Given the description of an element on the screen output the (x, y) to click on. 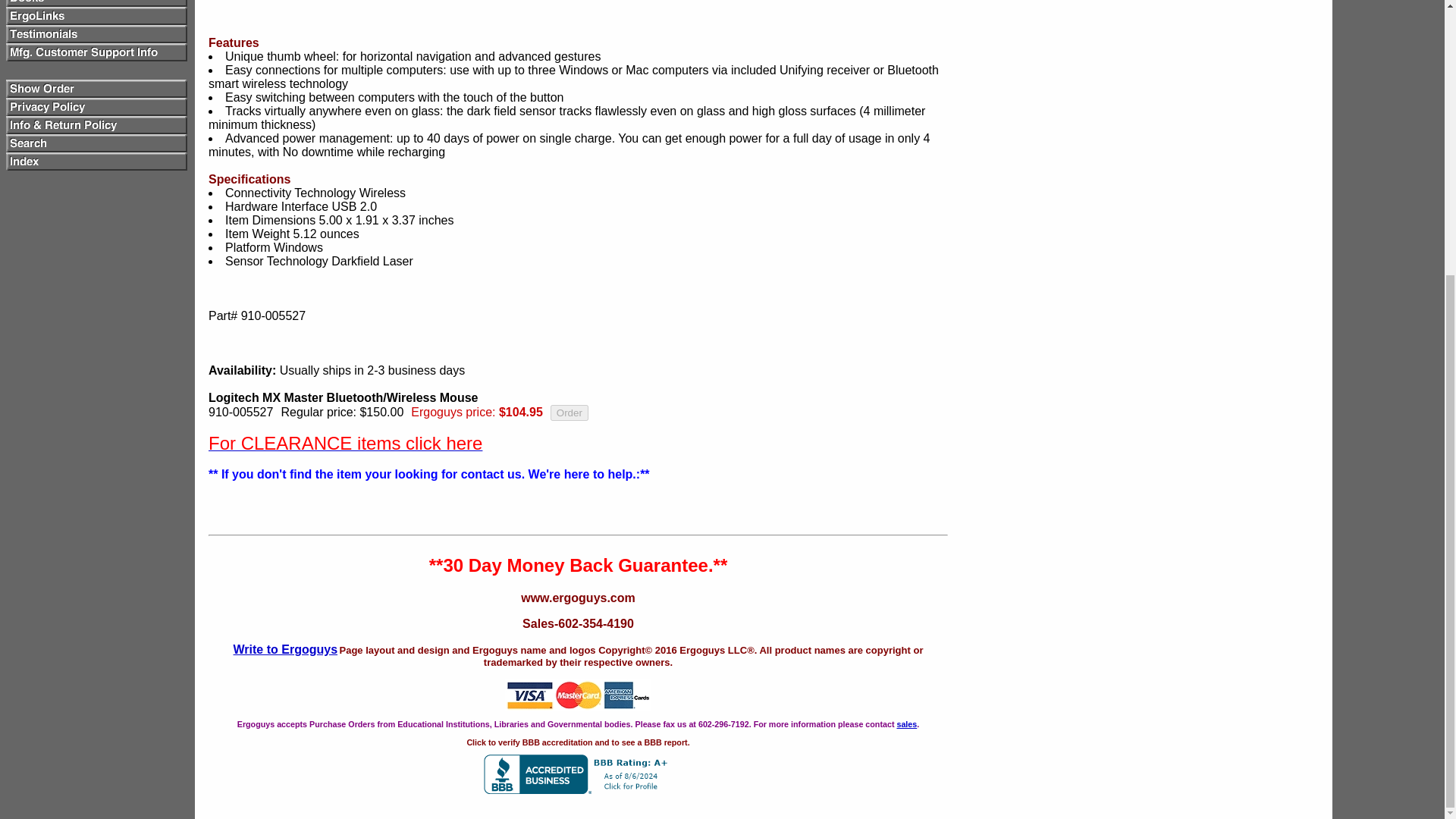
Order (569, 412)
Write to Ergoguys (284, 649)
sales (906, 723)
Order (569, 412)
For CLEARANCE items click here (344, 445)
Sales-602-354-4190 (577, 636)
